Given the description of an element on the screen output the (x, y) to click on. 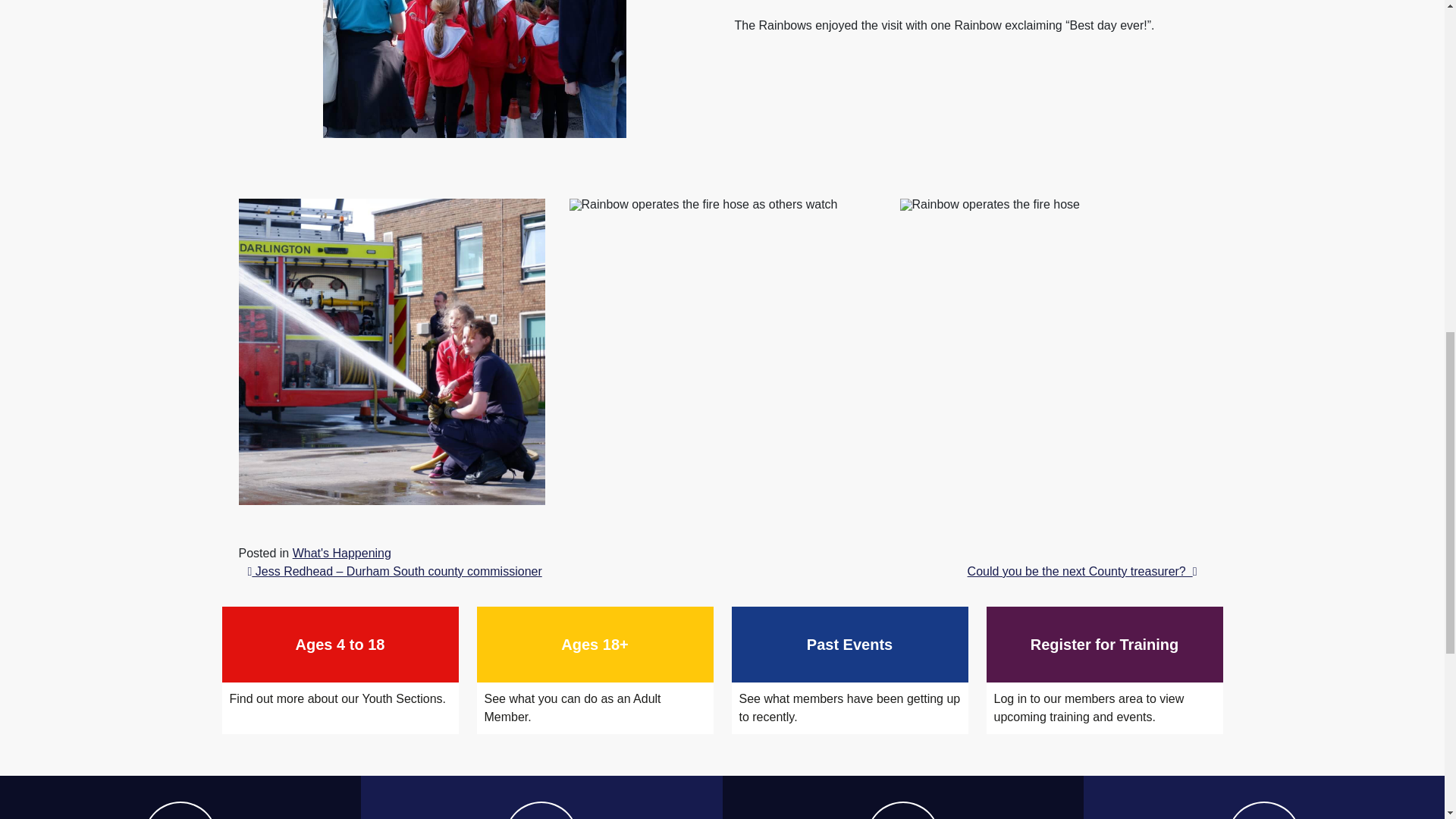
What's Happening (341, 553)
Could you be the next County treasurer?   (1082, 571)
